Given the description of an element on the screen output the (x, y) to click on. 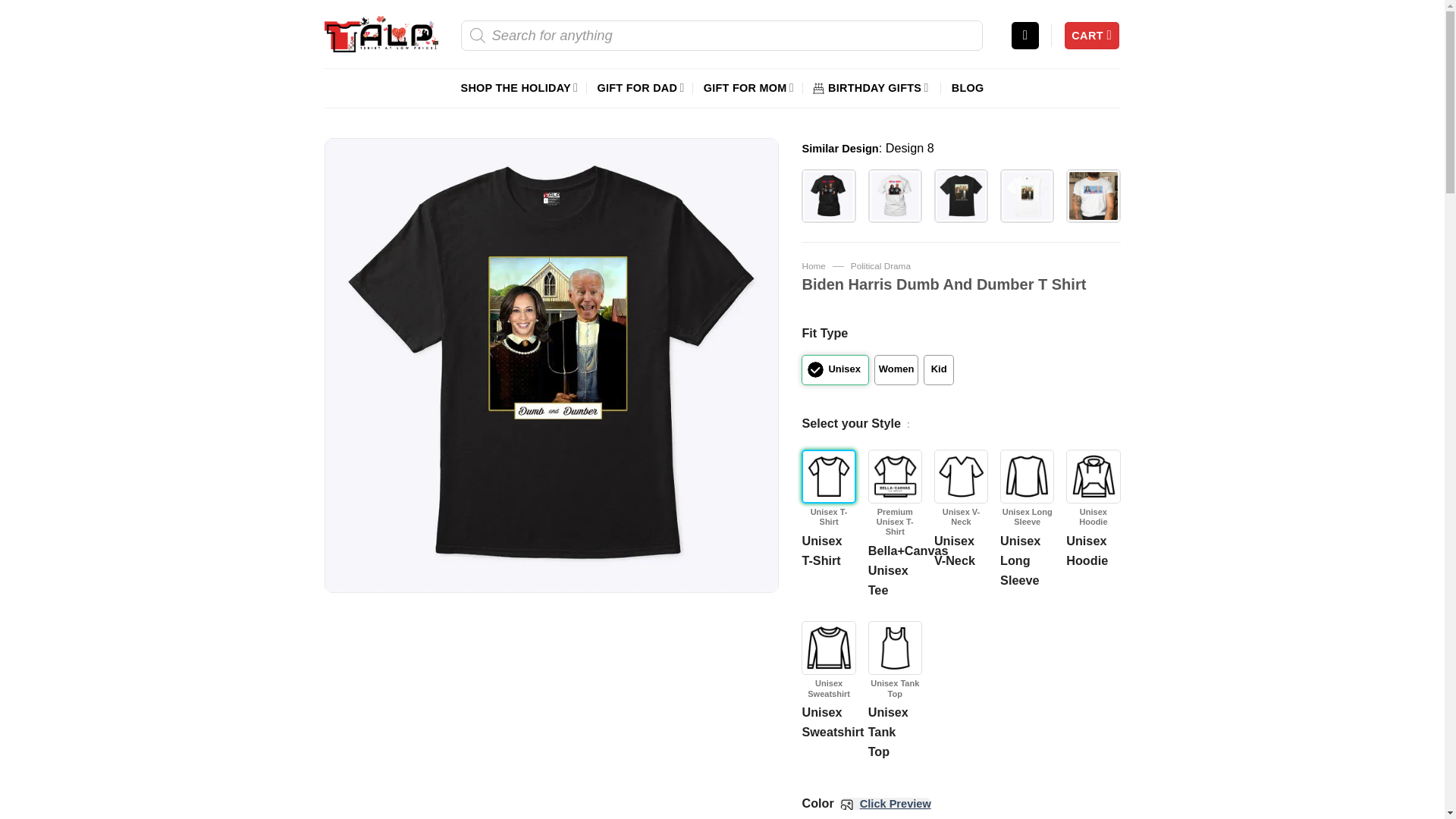
GIFT FOR MOM (748, 87)
SHOP THE HOLIDAY (519, 87)
GIFT FOR DAD (640, 87)
CART (1091, 35)
BIRTHDAY GIFTS (872, 87)
Dumb And Dumber Shirt Anti Biden Anti Harris (829, 195)
Cart (1091, 35)
Dumb And Dumber Board Shirt (1092, 195)
Kamala Harris Joe Biden Dumb And Dumber Shirt (1027, 195)
